Given the description of an element on the screen output the (x, y) to click on. 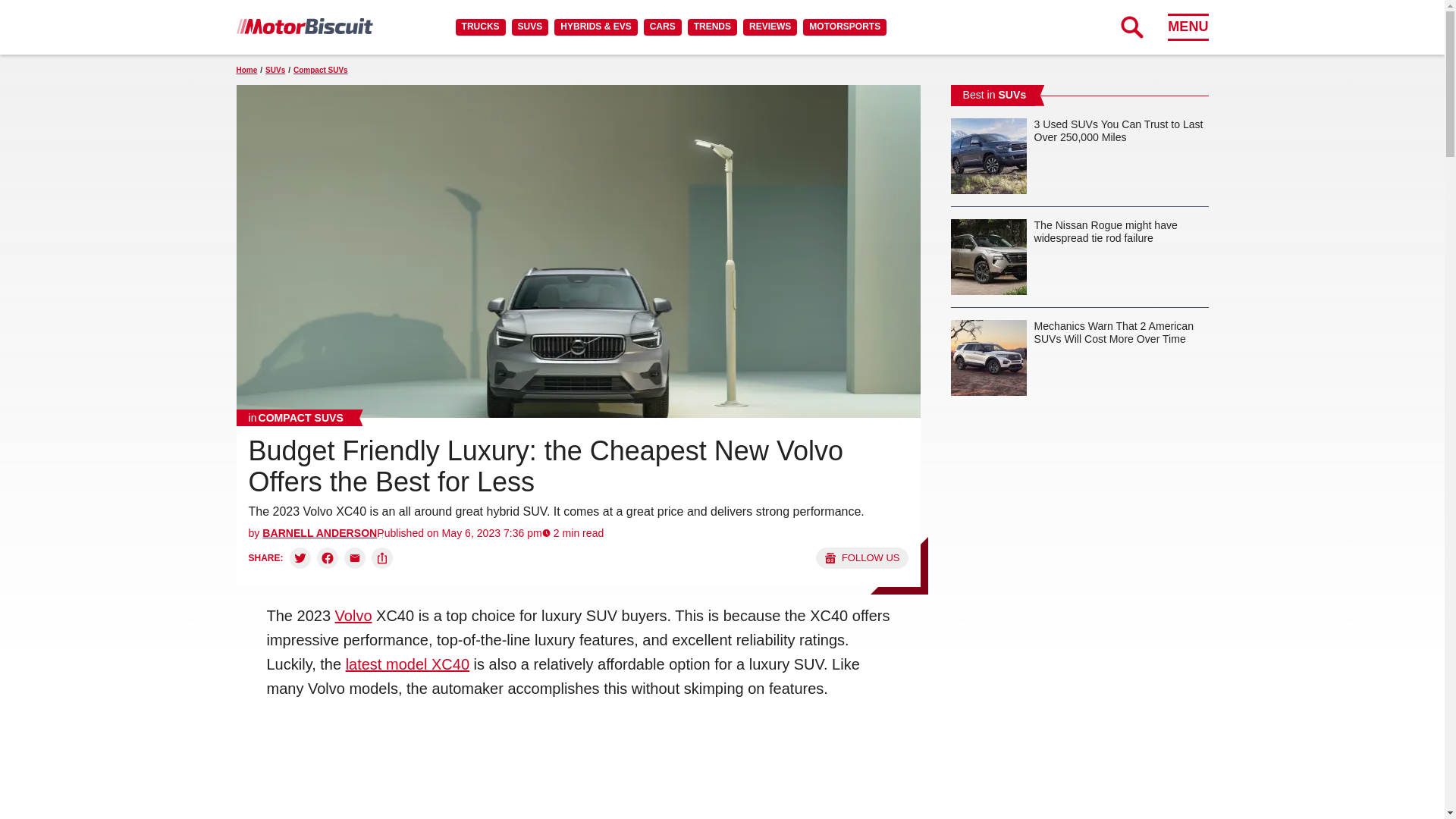
SUVS (530, 26)
MotorBiscuit (303, 26)
Copy link and share:  (382, 557)
Compact SUVs (295, 417)
TRUCKS (480, 26)
CARS (662, 26)
TRENDS (711, 26)
Expand Search (1131, 26)
MOTORSPORTS (844, 26)
